Given the description of an element on the screen output the (x, y) to click on. 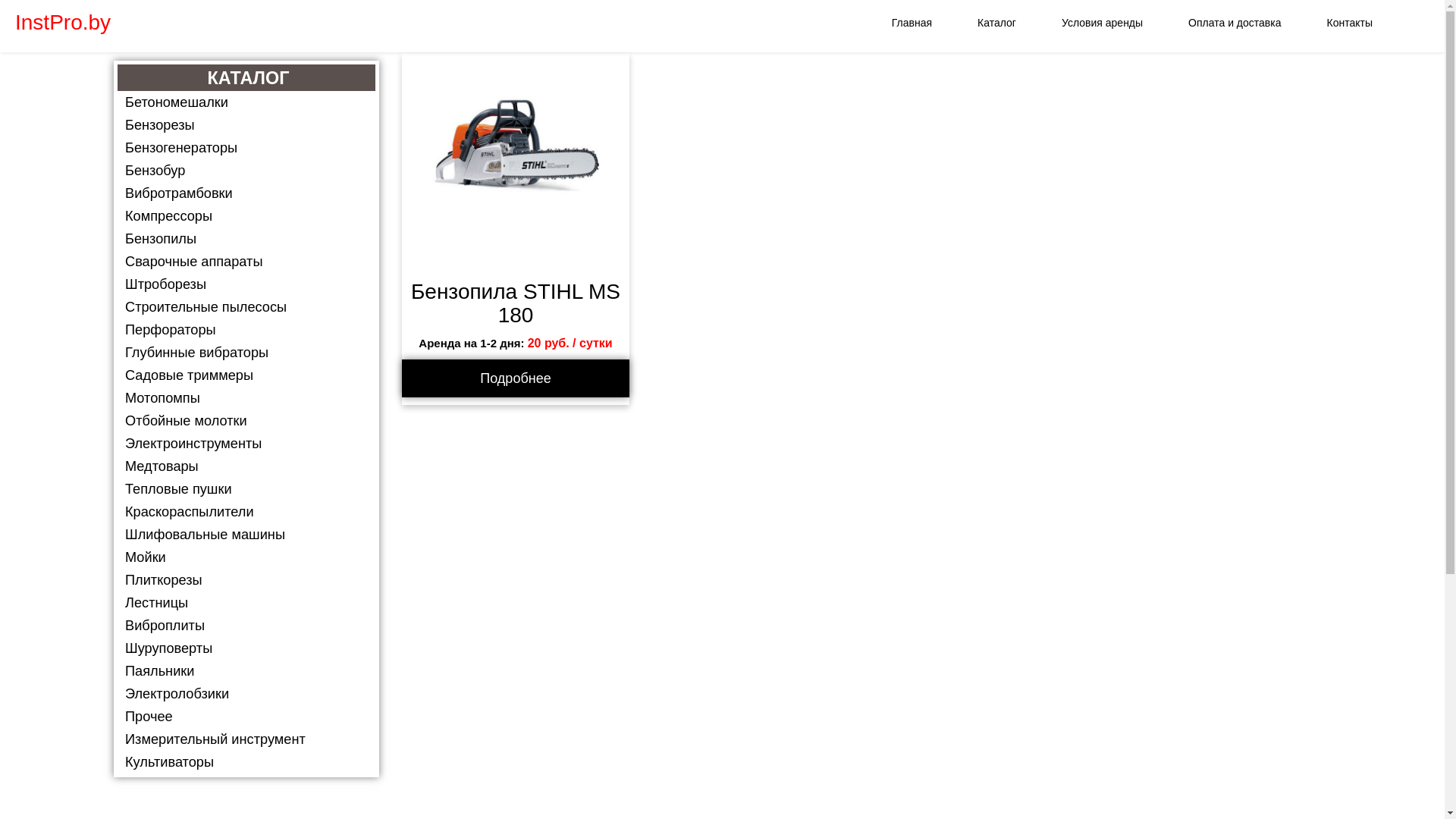
InstPro.by Element type: text (62, 22)
